Given the description of an element on the screen output the (x, y) to click on. 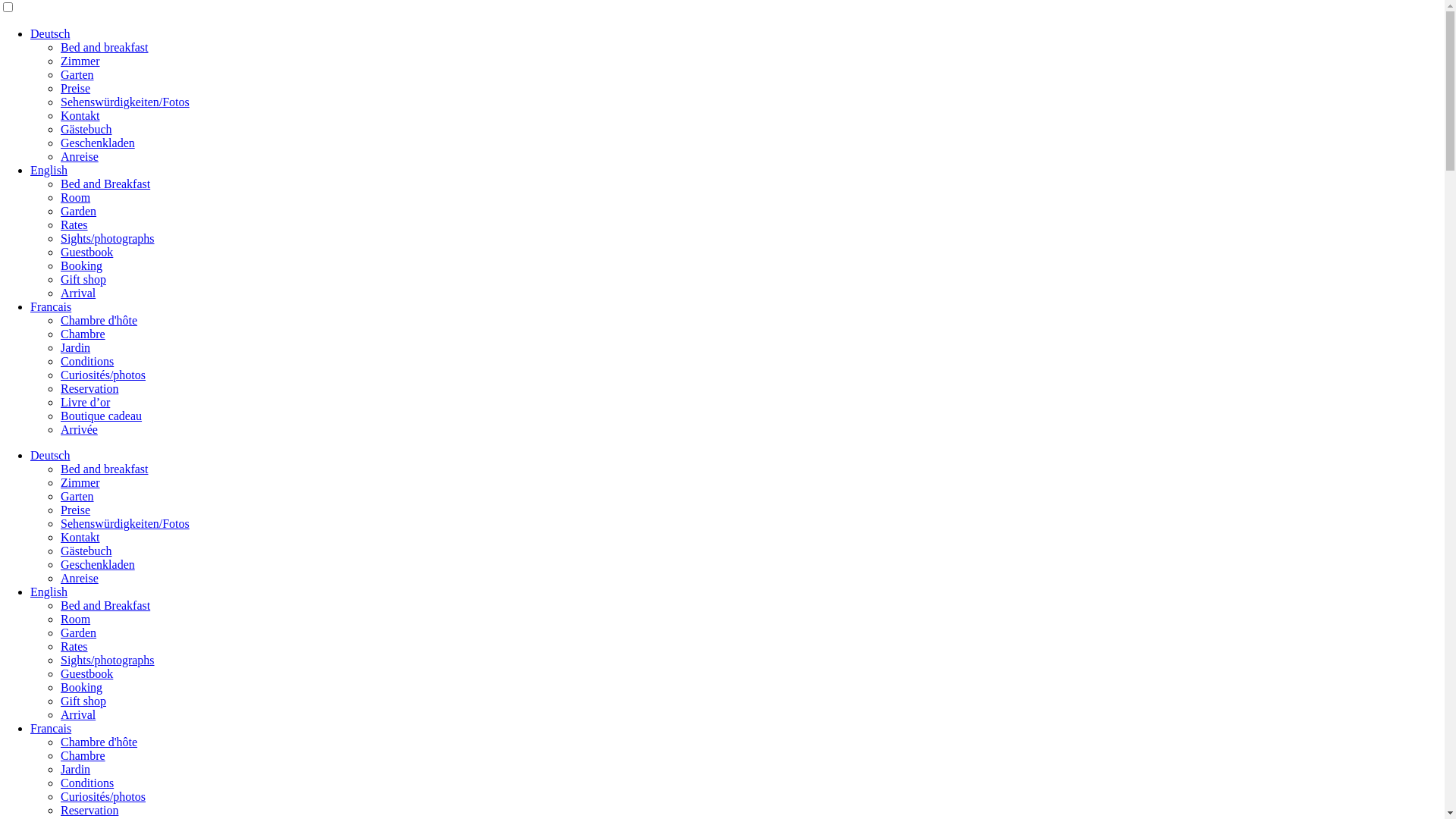
Arrival Element type: text (77, 292)
Garten Element type: text (77, 74)
Geschenkladen Element type: text (97, 142)
Jardin Element type: text (75, 768)
Zimmer Element type: text (80, 482)
Reservation Element type: text (89, 809)
Gift shop Element type: text (83, 700)
Boutique cadeau Element type: text (100, 415)
Conditions Element type: text (86, 360)
Room Element type: text (75, 197)
Rates Element type: text (73, 224)
Garten Element type: text (77, 495)
Bed and breakfast Element type: text (104, 46)
Chambre Element type: text (82, 333)
Garden Element type: text (78, 632)
Bed and Breakfast Element type: text (105, 183)
Room Element type: text (75, 618)
Francais Element type: text (50, 727)
Preise Element type: text (75, 509)
Anreise Element type: text (79, 156)
Bed and Breakfast Element type: text (105, 605)
Kontakt Element type: text (80, 115)
Conditions Element type: text (86, 782)
Sights/photographs Element type: text (107, 659)
Francais Element type: text (50, 306)
Deutsch Element type: text (49, 33)
Garden Element type: text (78, 210)
Bed and breakfast Element type: text (104, 468)
Geschenkladen Element type: text (97, 564)
Guestbook Element type: text (86, 251)
Gift shop Element type: text (83, 279)
Kontakt Element type: text (80, 536)
Booking Element type: text (81, 686)
Chambre Element type: text (82, 755)
English Element type: text (48, 169)
Deutsch Element type: text (49, 454)
Zimmer Element type: text (80, 60)
Preise Element type: text (75, 87)
English Element type: text (48, 591)
Rates Element type: text (73, 646)
Guestbook Element type: text (86, 673)
Reservation Element type: text (89, 388)
Jardin Element type: text (75, 347)
Anreise Element type: text (79, 577)
Sights/photographs Element type: text (107, 238)
Arrival Element type: text (77, 714)
Booking Element type: text (81, 265)
